Given the description of an element on the screen output the (x, y) to click on. 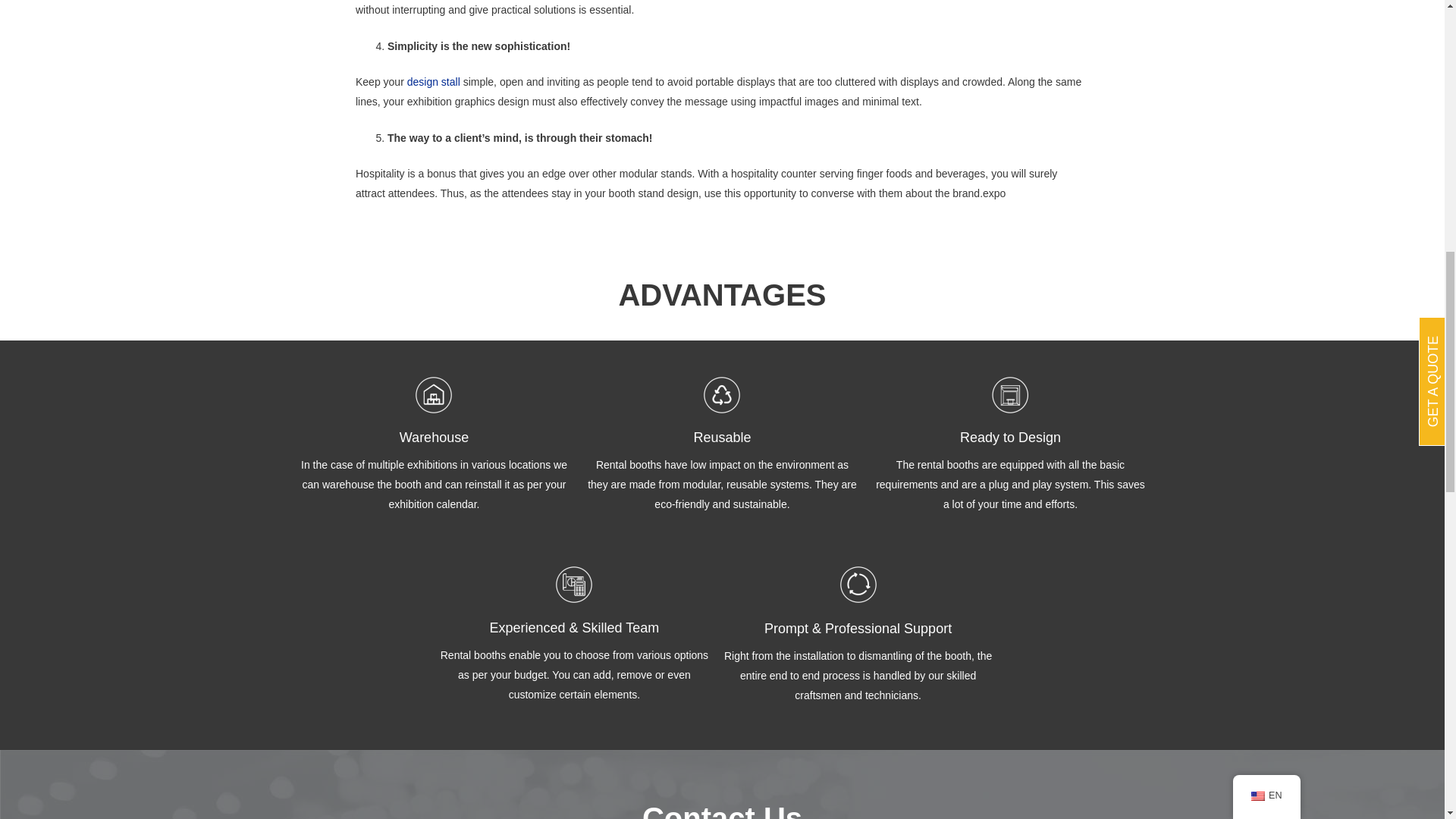
Advantages White Icon-04 (574, 584)
design stall (433, 81)
Advantages White Icon-01 (432, 394)
Advantages White Icon-03 (1009, 394)
Advantages White Icon-02 (721, 394)
Advantages White Icon-05 (858, 584)
